Given the description of an element on the screen output the (x, y) to click on. 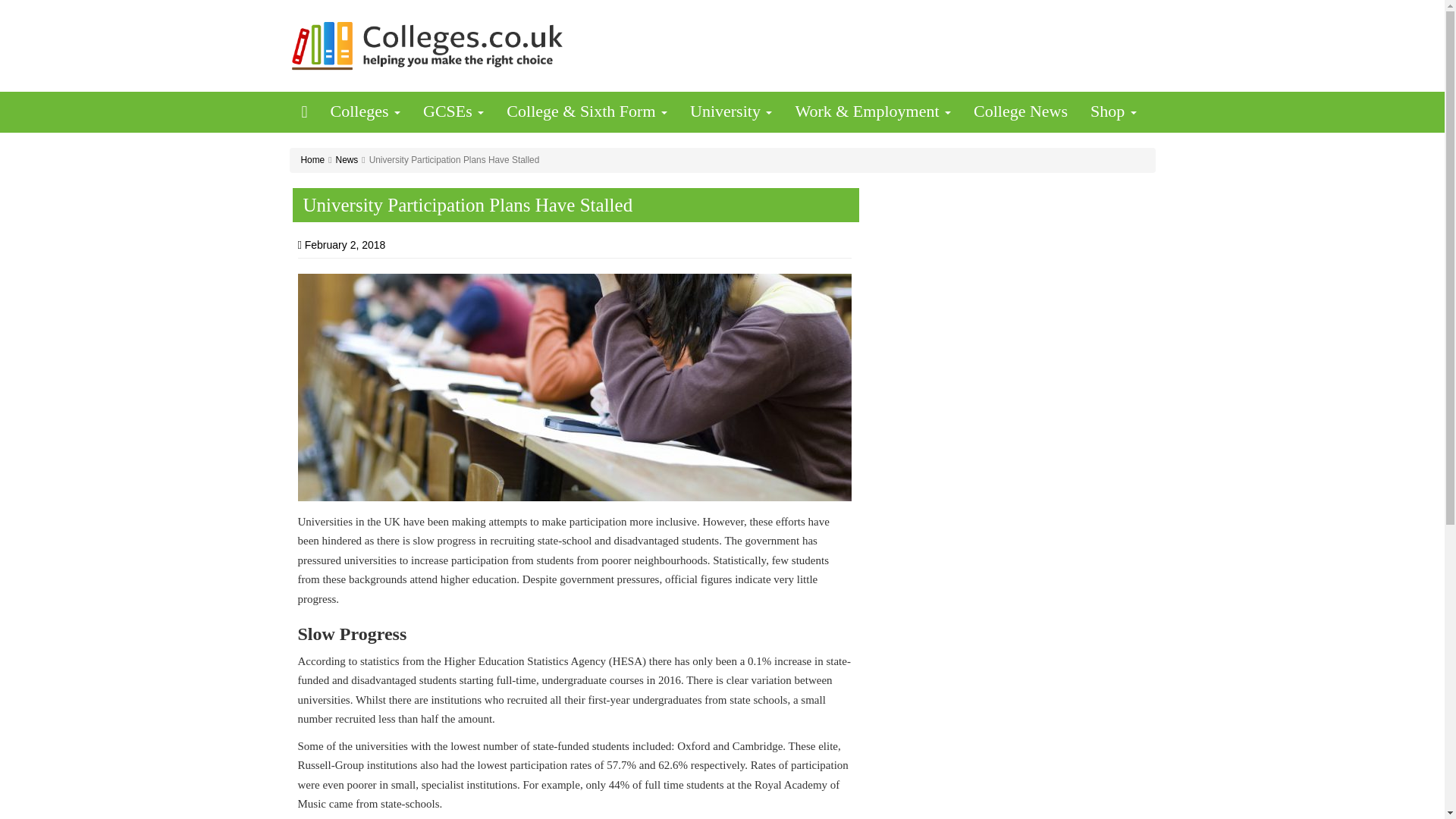
Shop (1113, 111)
GCSEs (453, 111)
February 2, 2018 (345, 244)
Colleges (365, 111)
University (730, 111)
College News (1020, 111)
Home (311, 159)
GCSEs (453, 111)
Colleges (365, 111)
News (347, 159)
University (730, 111)
